Given the description of an element on the screen output the (x, y) to click on. 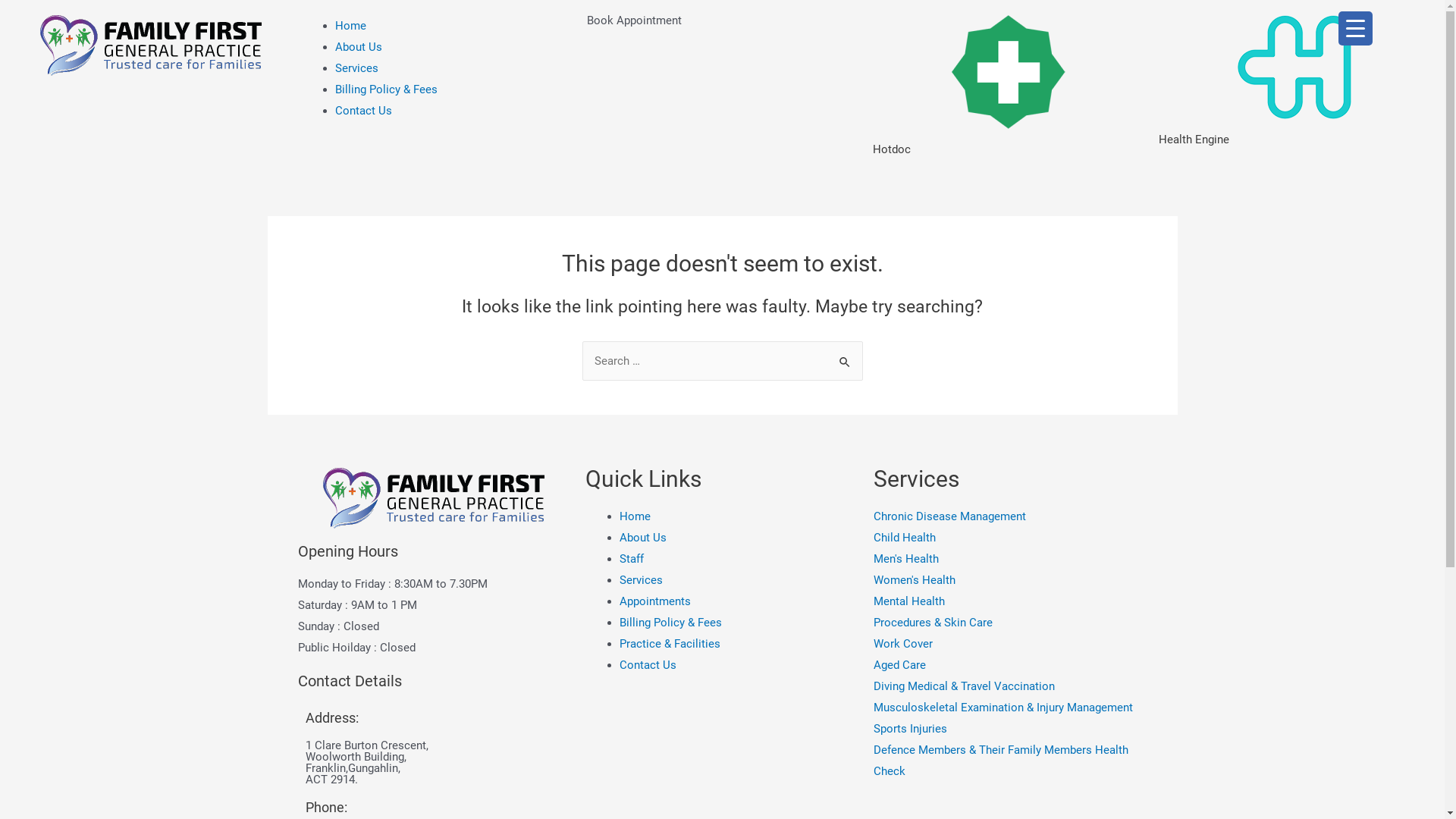
Services Element type: text (356, 68)
Men's Health Element type: text (1009, 558)
Practice & Facilities Element type: text (669, 643)
Mental Health Element type: text (1009, 600)
Women's Health Element type: text (1009, 579)
Aged Care Element type: text (1009, 664)
Billing Policy & Fees Element type: text (386, 89)
Staff Element type: text (631, 558)
Hotdoc Element type: text (891, 149)
Billing Policy & Fees Element type: text (670, 622)
Home Element type: text (634, 516)
Health Engine Element type: text (1193, 139)
Sports Injuries Element type: text (1009, 728)
About Us Element type: text (642, 537)
Services Element type: text (640, 579)
Defence Members & Their Family Members Health Check Element type: text (1009, 760)
Contact Us Element type: text (363, 110)
Search Element type: text (845, 356)
About Us Element type: text (358, 46)
Contact Us Element type: text (647, 664)
Appointments Element type: text (654, 601)
Chronic Disease Management Element type: text (1009, 516)
Work Cover Element type: text (1009, 643)
Musculoskeletal Examination & Injury Management Element type: text (1009, 707)
Diving Medical & Travel Vaccination Element type: text (1009, 685)
Child Health Element type: text (1009, 537)
Home Element type: text (350, 25)
Procedures & Skin Care Element type: text (1009, 622)
